Given the description of an element on the screen output the (x, y) to click on. 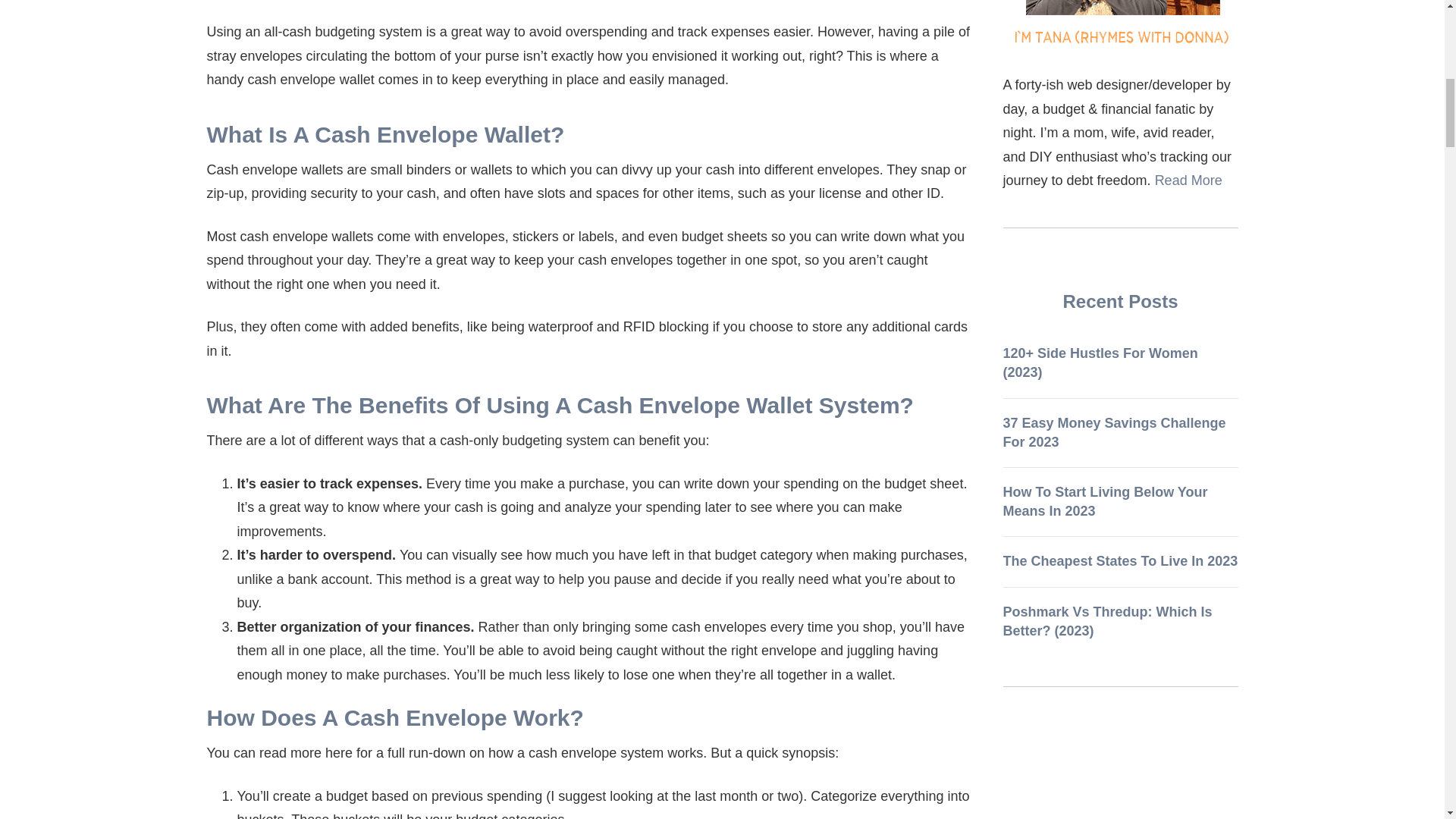
How to Start Living Below Your Means in 2023 (1105, 501)
37 Easy Money Savings Challenge for 2023 (1114, 432)
The Cheapest States to Live in 2023 (1120, 560)
